Given the description of an element on the screen output the (x, y) to click on. 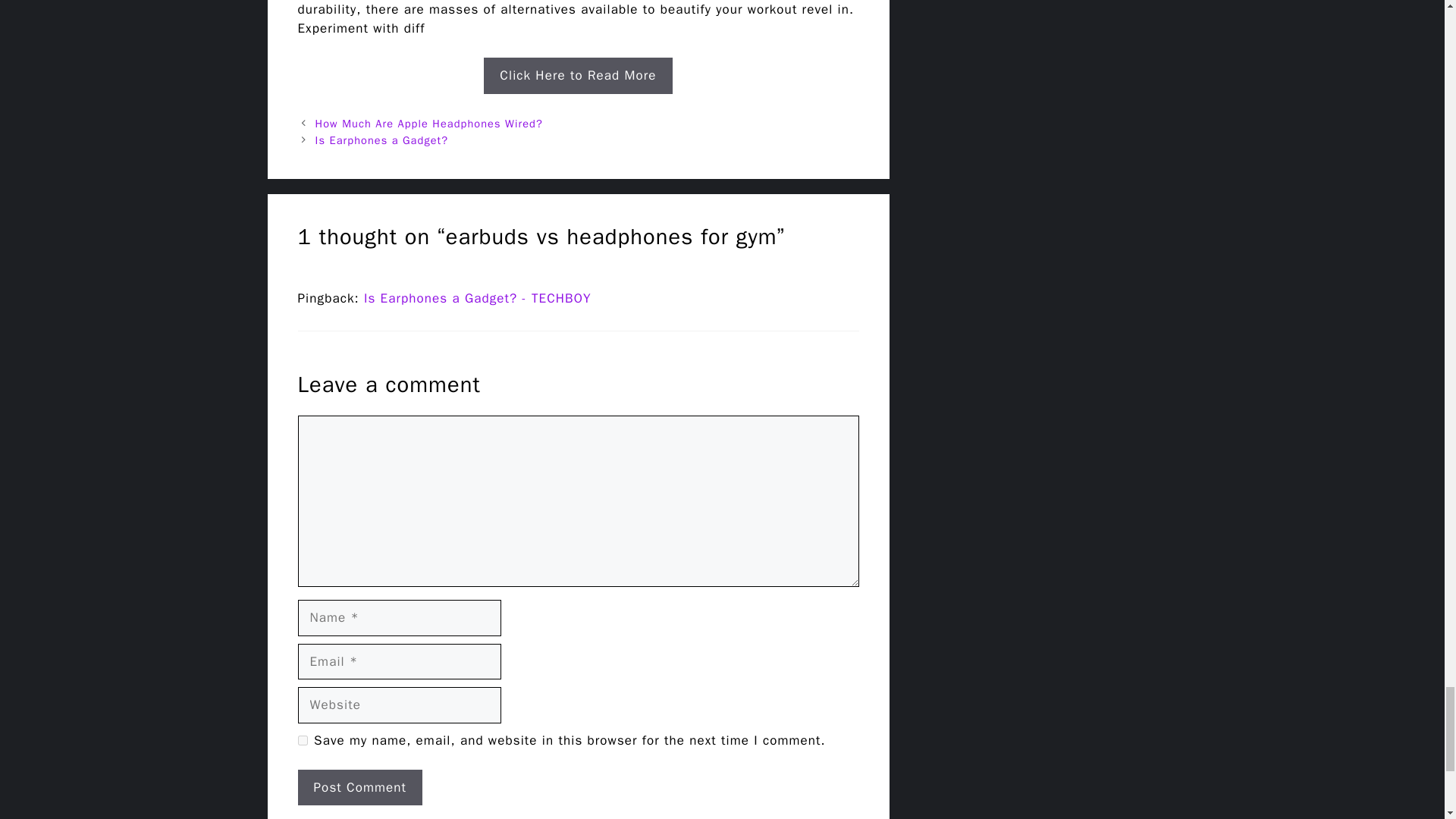
Is Earphones a Gadget? (381, 140)
How Much Are Apple Headphones Wired? (429, 123)
Click Here to Read More (577, 75)
yes (302, 740)
Post Comment (359, 787)
Is Earphones a Gadget? - TECHBOY (477, 298)
Post Comment (359, 787)
